Given the description of an element on the screen output the (x, y) to click on. 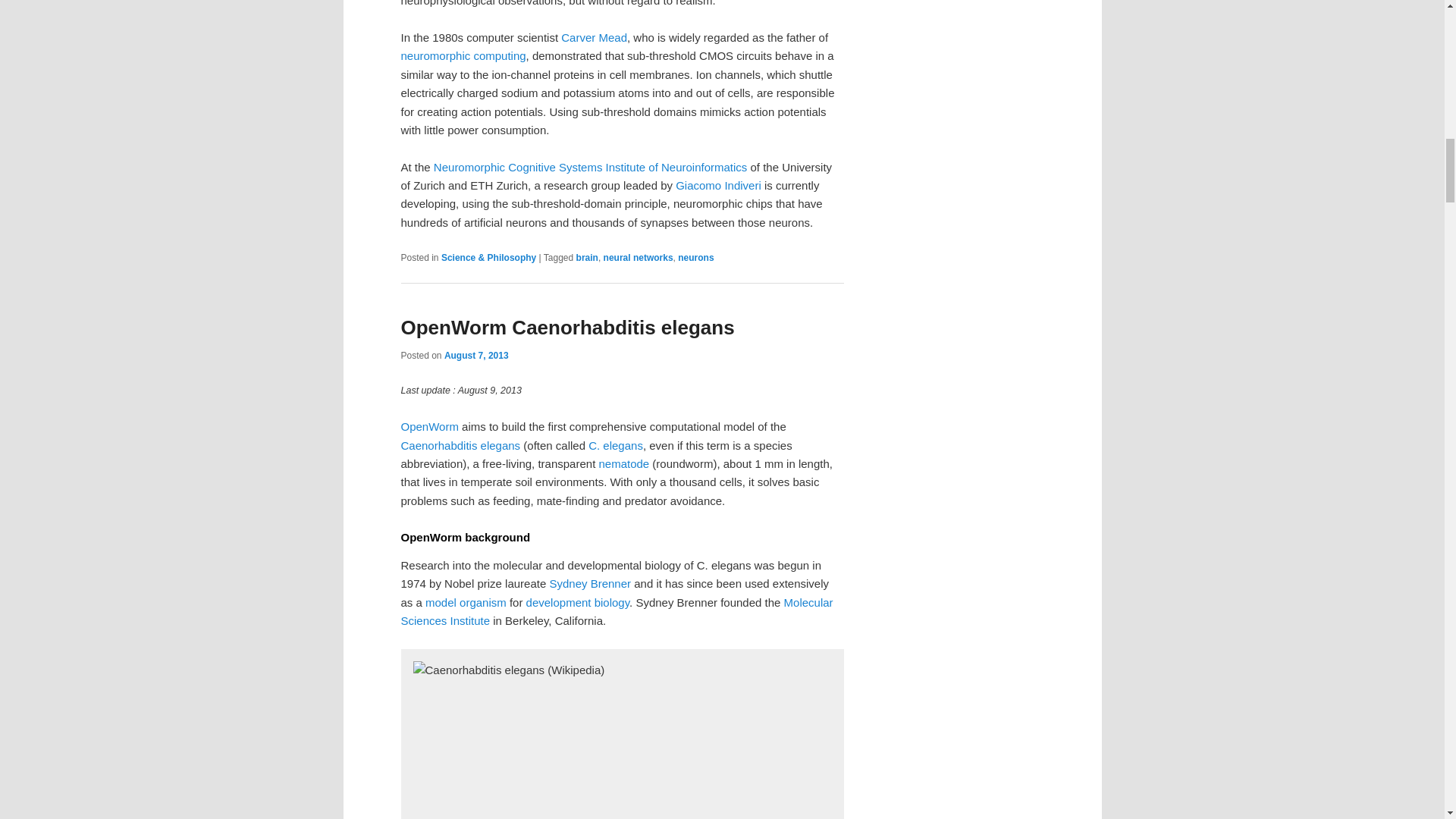
Giacomo Indiveri (718, 185)
Neuromorphic Cognitive Systems Institute of Neuroinformatics (590, 166)
neuromorphic computing (462, 55)
Carver Mead (593, 37)
